Given the description of an element on the screen output the (x, y) to click on. 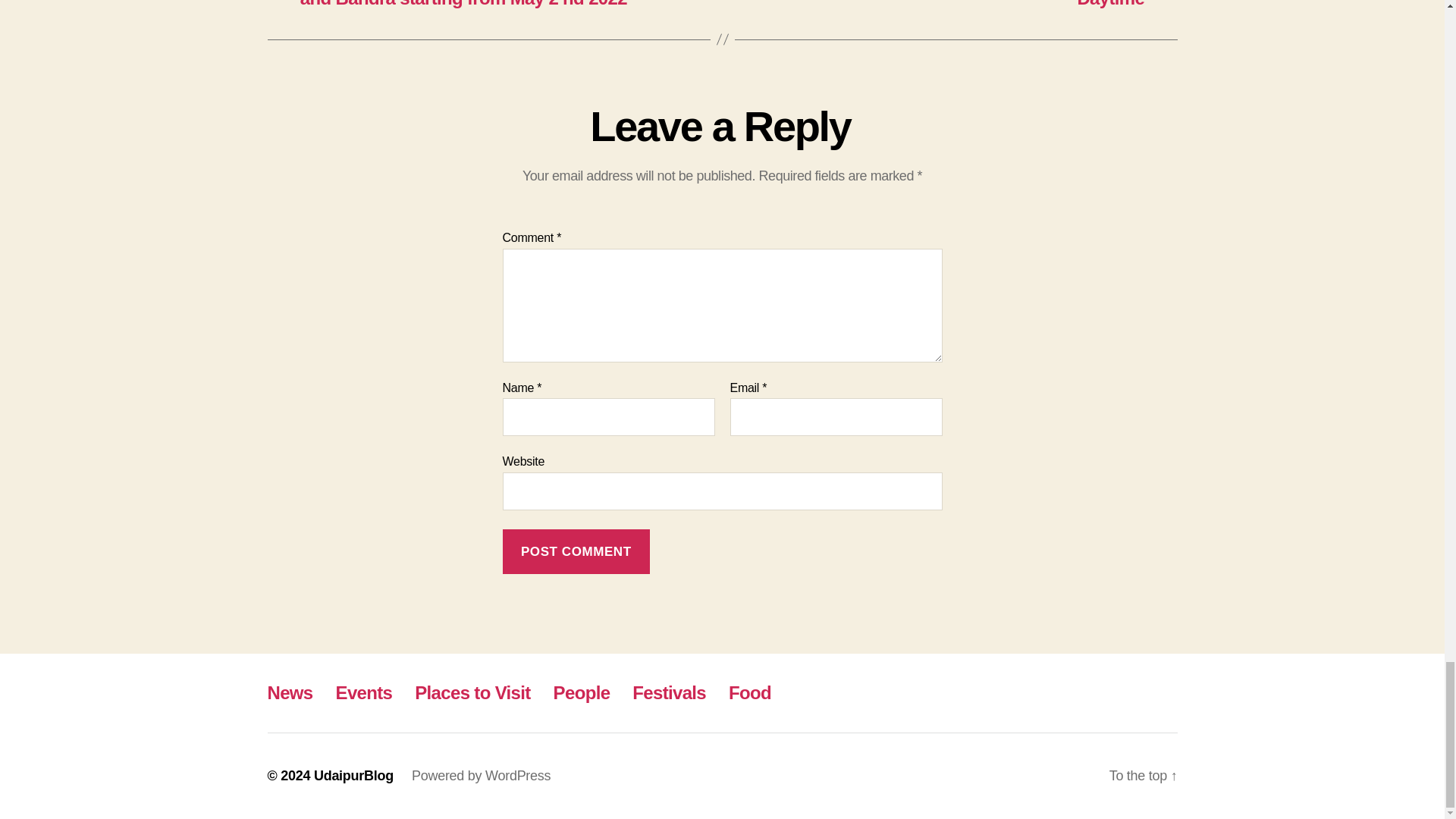
News (289, 692)
Post Comment (575, 551)
Post Comment (575, 551)
Events (364, 692)
